Given the description of an element on the screen output the (x, y) to click on. 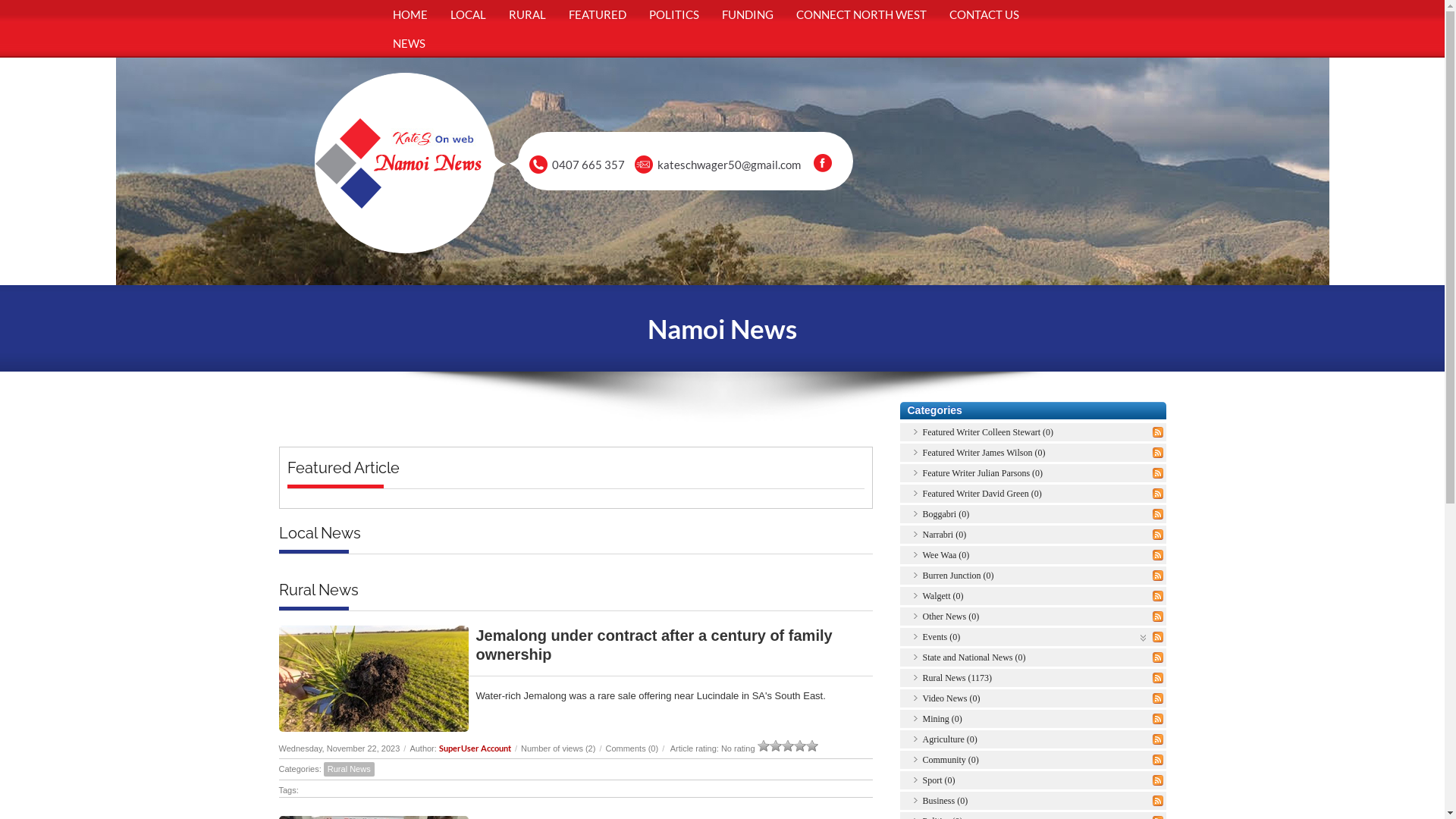
RSS Element type: hover (1157, 575)
RSS Element type: hover (1157, 636)
RSS Element type: hover (1157, 554)
RSS Element type: hover (1157, 452)
RSS Element type: hover (1157, 513)
Featured Writer James Wilson (0) Element type: text (983, 452)
RSS Element type: hover (1157, 616)
Wee Waa (0) Element type: text (945, 554)
Burren Junction (0) Element type: text (957, 575)
HOME Element type: text (409, 14)
Expand/Collapse Element type: hover (1142, 636)
Narrabri (0) Element type: text (944, 534)
RSS Element type: hover (1157, 534)
POLITICS Element type: text (673, 14)
FUNDING Element type: text (746, 14)
RSS Element type: hover (1157, 657)
Mining (0) Element type: text (941, 718)
Video News (0) Element type: text (950, 698)
RURAL Element type: text (527, 14)
Business (0) Element type: text (944, 800)
CONTACT US Element type: text (983, 14)
Jemalong under contract after a century of family ownership Element type: text (654, 644)
Agriculture (0) Element type: text (949, 739)
Other News (0) Element type: text (950, 616)
Featured Writer David Green (0) Element type: text (981, 493)
Feature Writer Julian Parsons (0) Element type: text (982, 472)
SuperUser Account Element type: text (475, 748)
Boggabri (0) Element type: text (945, 513)
FEATURED Element type: text (596, 14)
Facebook Element type: hover (822, 162)
State and National News (0) Element type: text (973, 657)
RSS Element type: hover (1157, 759)
RSS Element type: hover (1157, 595)
Featured Writer Colleen Stewart (0) Element type: text (987, 431)
RSS Element type: hover (1157, 800)
NEWS Element type: text (408, 42)
kateschwager50@gmail.com Element type: text (728, 164)
0407 665 357 Element type: text (588, 164)
Rural News Element type: text (348, 769)
Sport (0) Element type: text (938, 780)
LOCAL Element type: text (467, 14)
RSS Element type: hover (1157, 677)
RSS Element type: hover (1157, 493)
CONNECT NORTH WEST Element type: text (860, 14)
RSS Element type: hover (1157, 472)
RSS Element type: hover (1157, 698)
RSS Element type: hover (1157, 780)
RSS Element type: hover (1157, 718)
Walgett (0) Element type: text (942, 595)
Rural News (1173) Element type: text (956, 677)
Events (0) Element type: text (941, 636)
Community (0) Element type: text (950, 759)
RSS Element type: hover (1157, 431)
RSS Element type: hover (1157, 739)
